Given the description of an element on the screen output the (x, y) to click on. 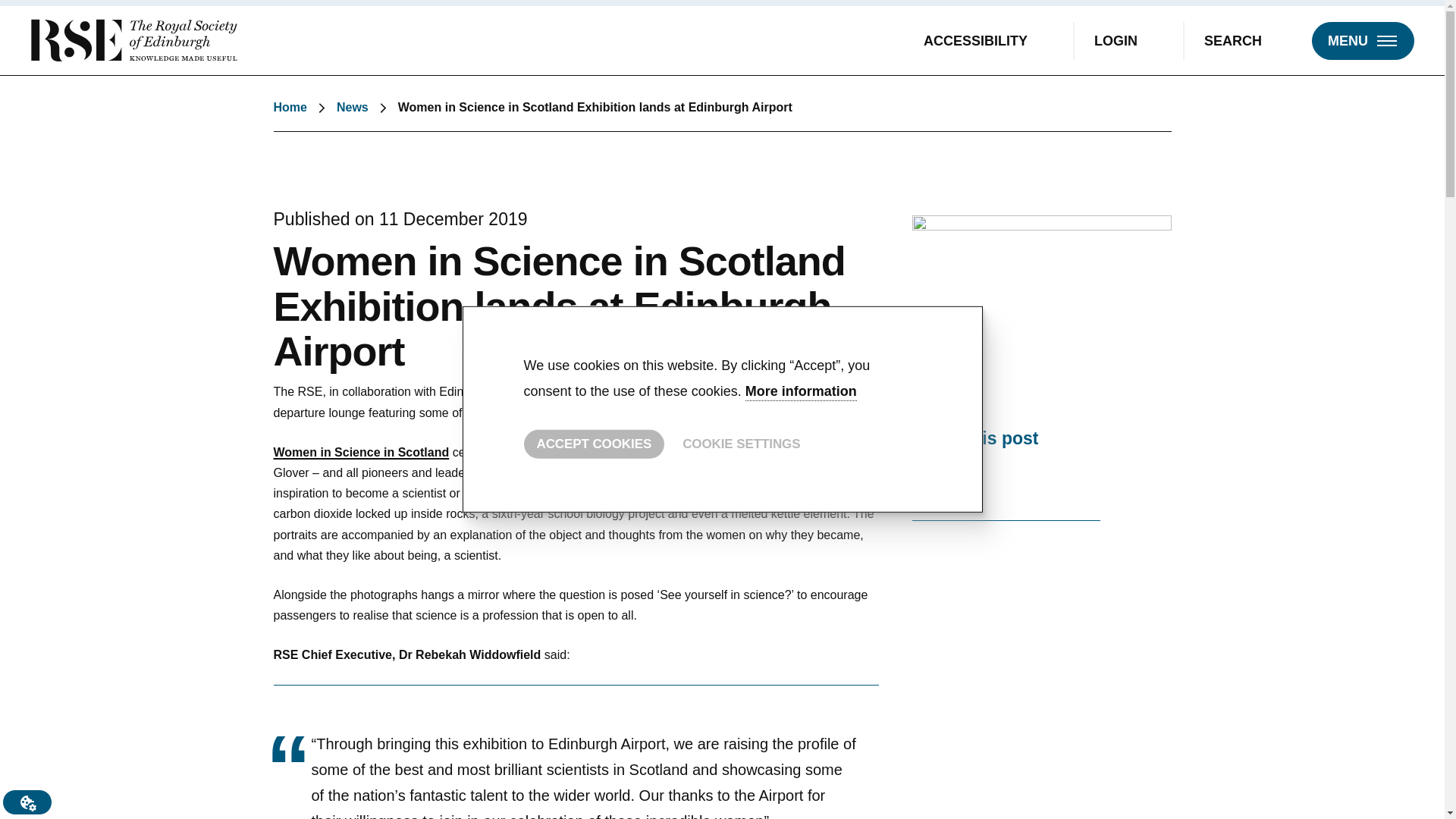
Share this post on Facebook (1005, 481)
MENU (1362, 39)
Share this post on Linkedin (964, 481)
ACCESSIBILITY (988, 39)
Share this post by email (1088, 481)
Share this post on WhatsApp (1047, 481)
SEARCH (1246, 39)
LOGIN (1128, 39)
Share this post on Twitter (923, 481)
